Given the description of an element on the screen output the (x, y) to click on. 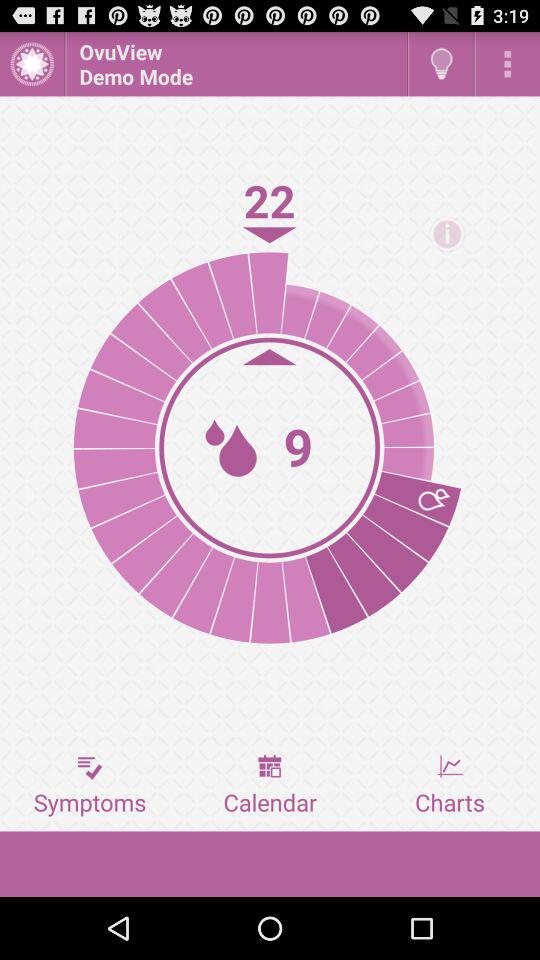
turn on ovuview
demo mode at the top (236, 63)
